Given the description of an element on the screen output the (x, y) to click on. 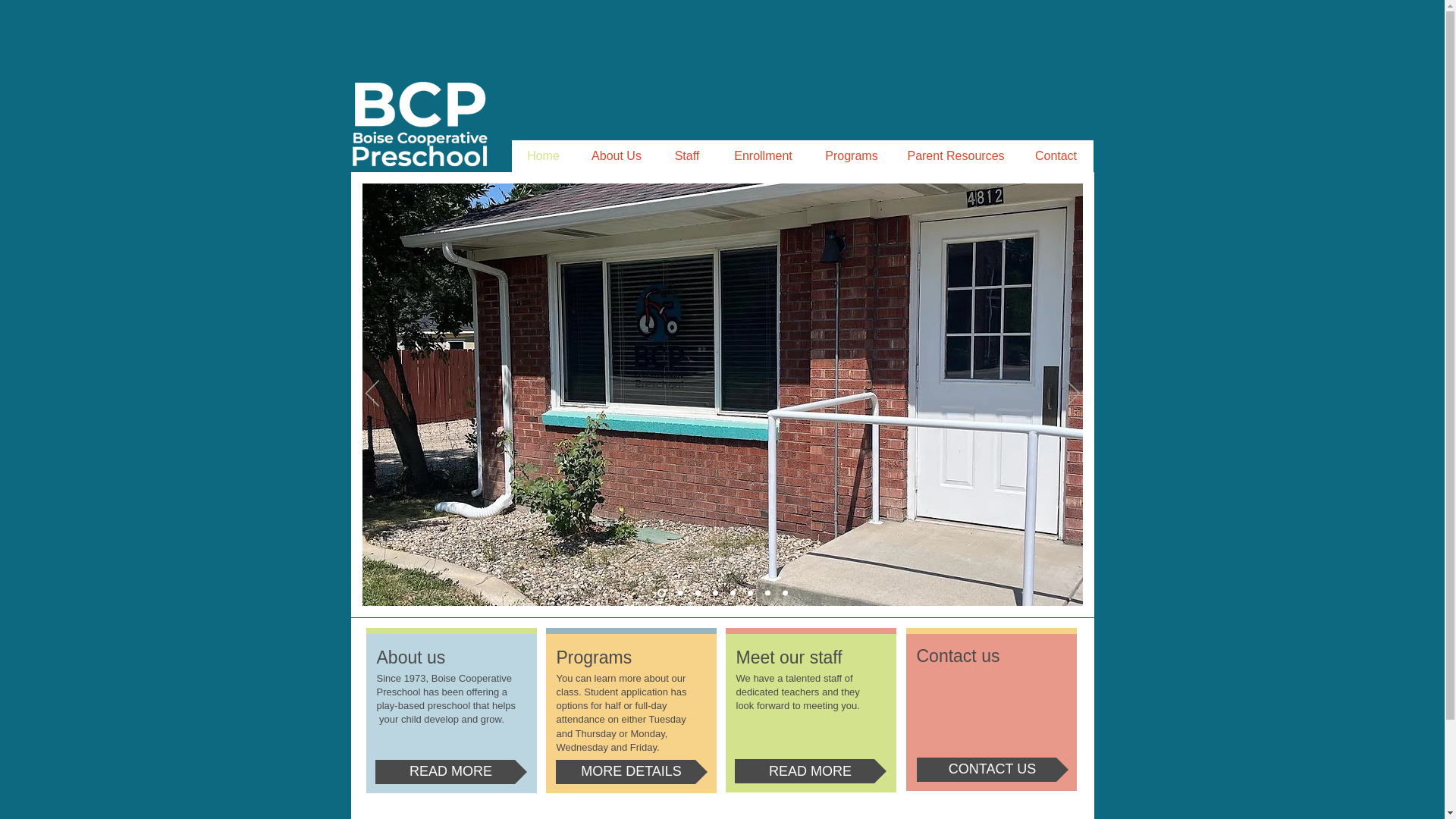
About Us (615, 155)
CONTACT US (991, 769)
MORE DETAILS (630, 771)
READ MORE (449, 771)
Parent Resources (955, 155)
Programs (851, 155)
Staff (686, 155)
Home (543, 155)
Contact (1055, 155)
Enrollment (762, 155)
